Given the description of an element on the screen output the (x, y) to click on. 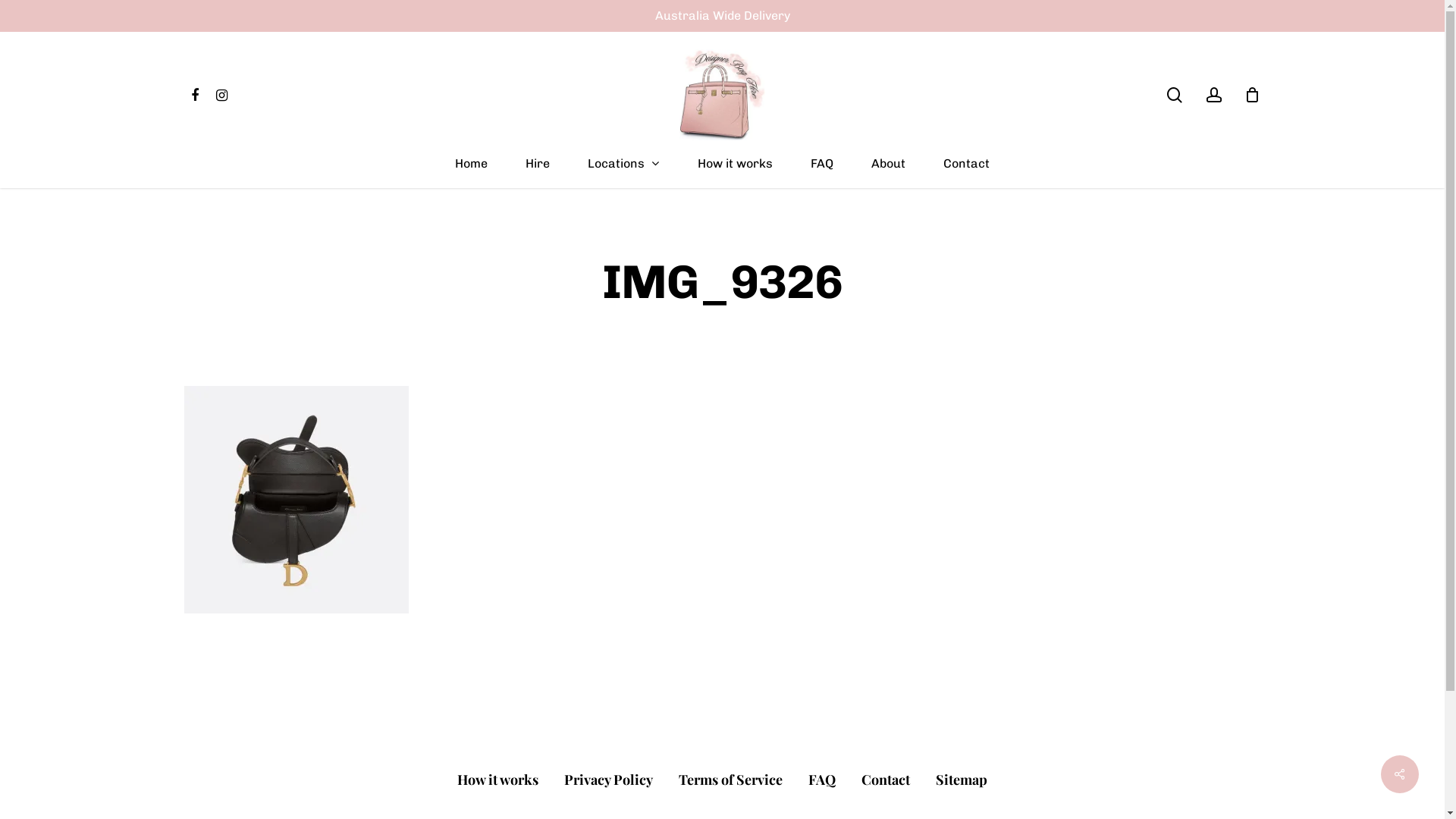
account Element type: text (1213, 94)
facebook Element type: text (193, 94)
Contact Element type: text (966, 172)
Australia Wide Delivery Element type: text (722, 15)
Terms of Service Element type: text (730, 779)
How it works Element type: text (734, 172)
Sitemap Element type: text (961, 779)
search Element type: text (1173, 94)
instagram Element type: text (221, 94)
Contact Element type: text (885, 779)
Home Element type: text (471, 172)
How it works Element type: text (497, 779)
About Element type: text (888, 172)
Privacy Policy Element type: text (608, 779)
FAQ Element type: text (821, 172)
Hire Element type: text (537, 172)
FAQ Element type: text (821, 779)
Locations Element type: text (623, 172)
